Given the description of an element on the screen output the (x, y) to click on. 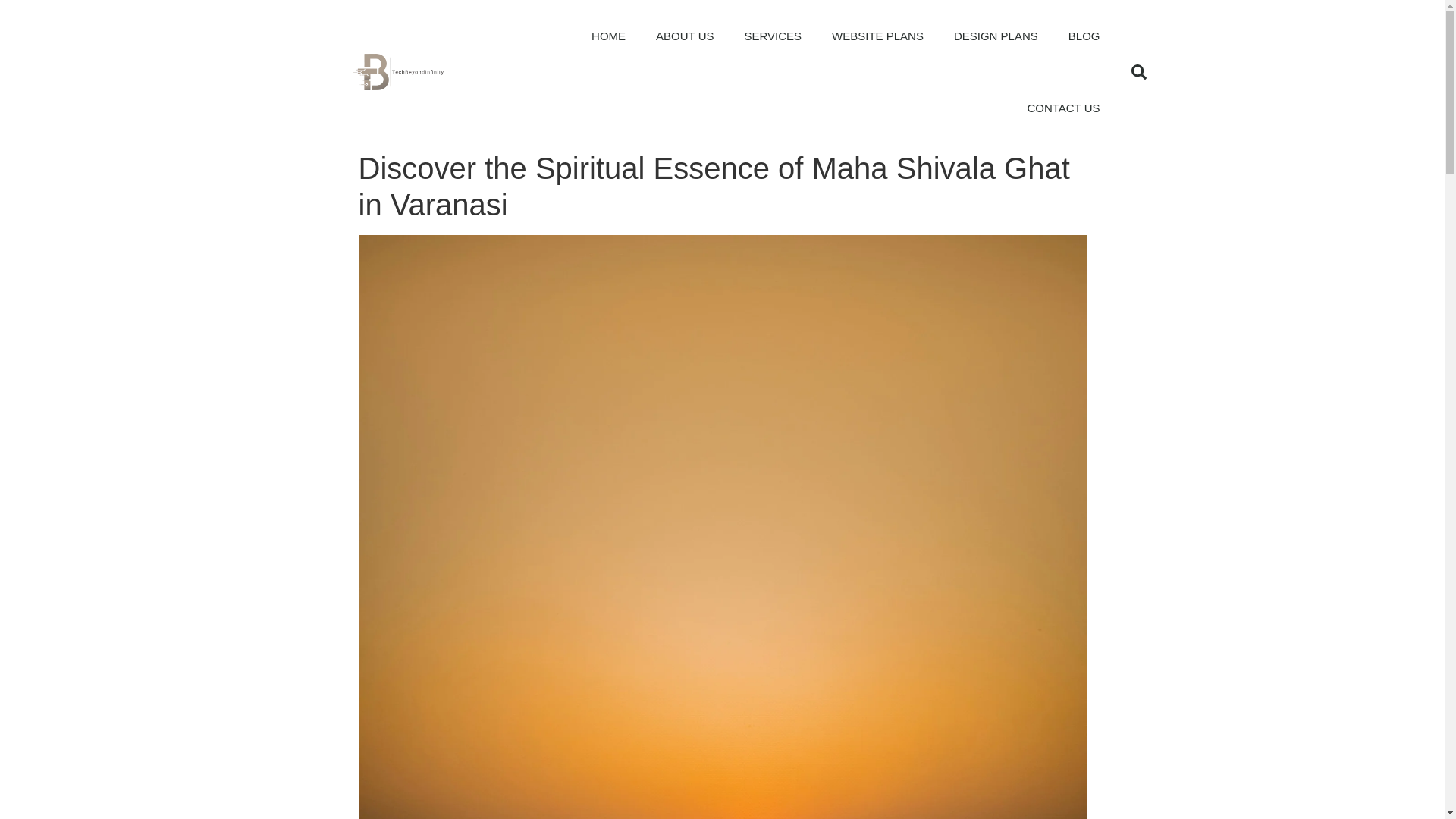
HOME (608, 36)
DESIGN PLANS (995, 36)
WEBSITE PLANS (877, 36)
SERVICES (772, 36)
CONTACT US (1063, 108)
ABOUT US (684, 36)
